Given the description of an element on the screen output the (x, y) to click on. 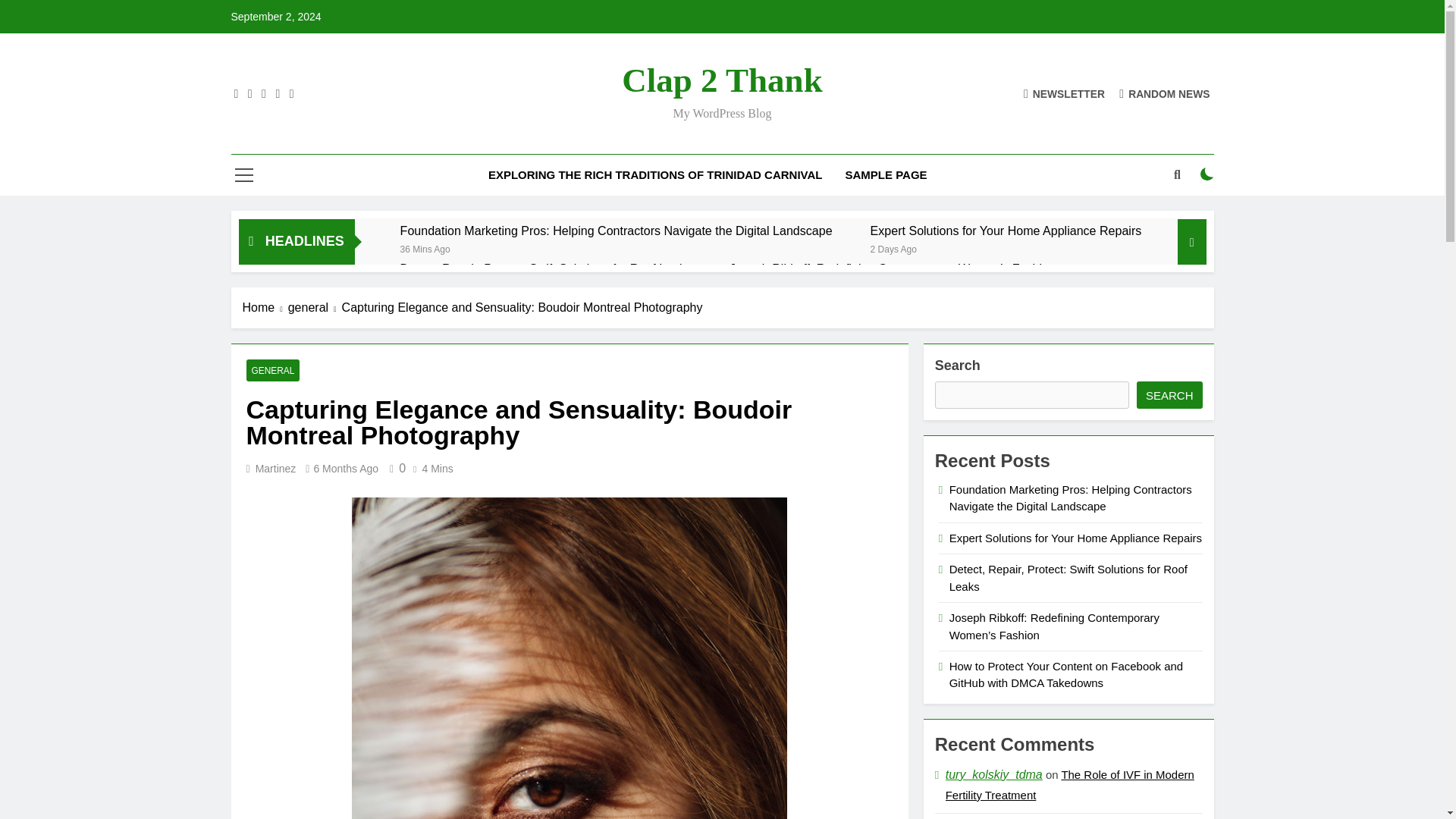
general (315, 307)
Clap 2 Thank (721, 80)
EXPLORING THE RICH TRADITIONS OF TRINIDAD CARNIVAL (655, 174)
NEWSLETTER (1064, 92)
RANDOM NEWS (1164, 92)
Home (265, 307)
Detect, Repair, Protect: Swift Solutions for Roof Leaks (545, 268)
on (1206, 173)
